Given the description of an element on the screen output the (x, y) to click on. 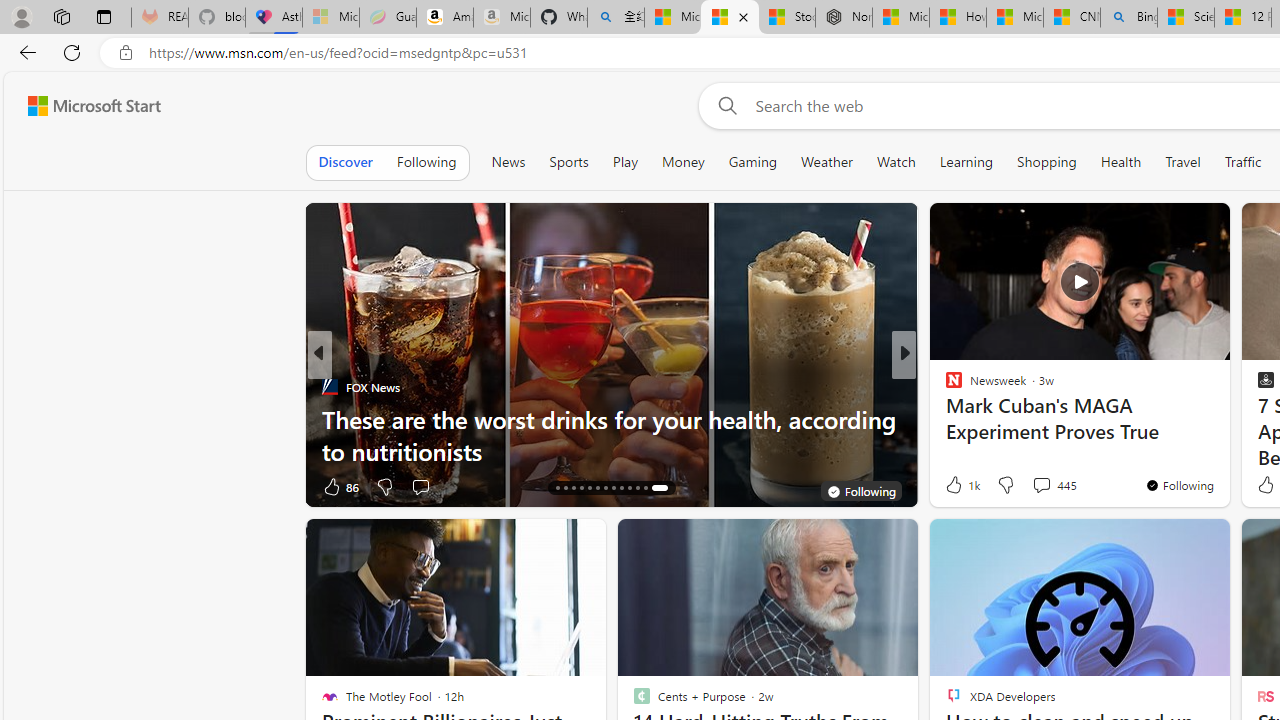
View comments 445 Comment (1041, 485)
AutomationID: tab-18 (588, 487)
Hide this story (1169, 542)
AutomationID: tab-16 (573, 487)
AutomationID: tab-22 (620, 487)
AutomationID: tab-26 (658, 487)
